Given the description of an element on the screen output the (x, y) to click on. 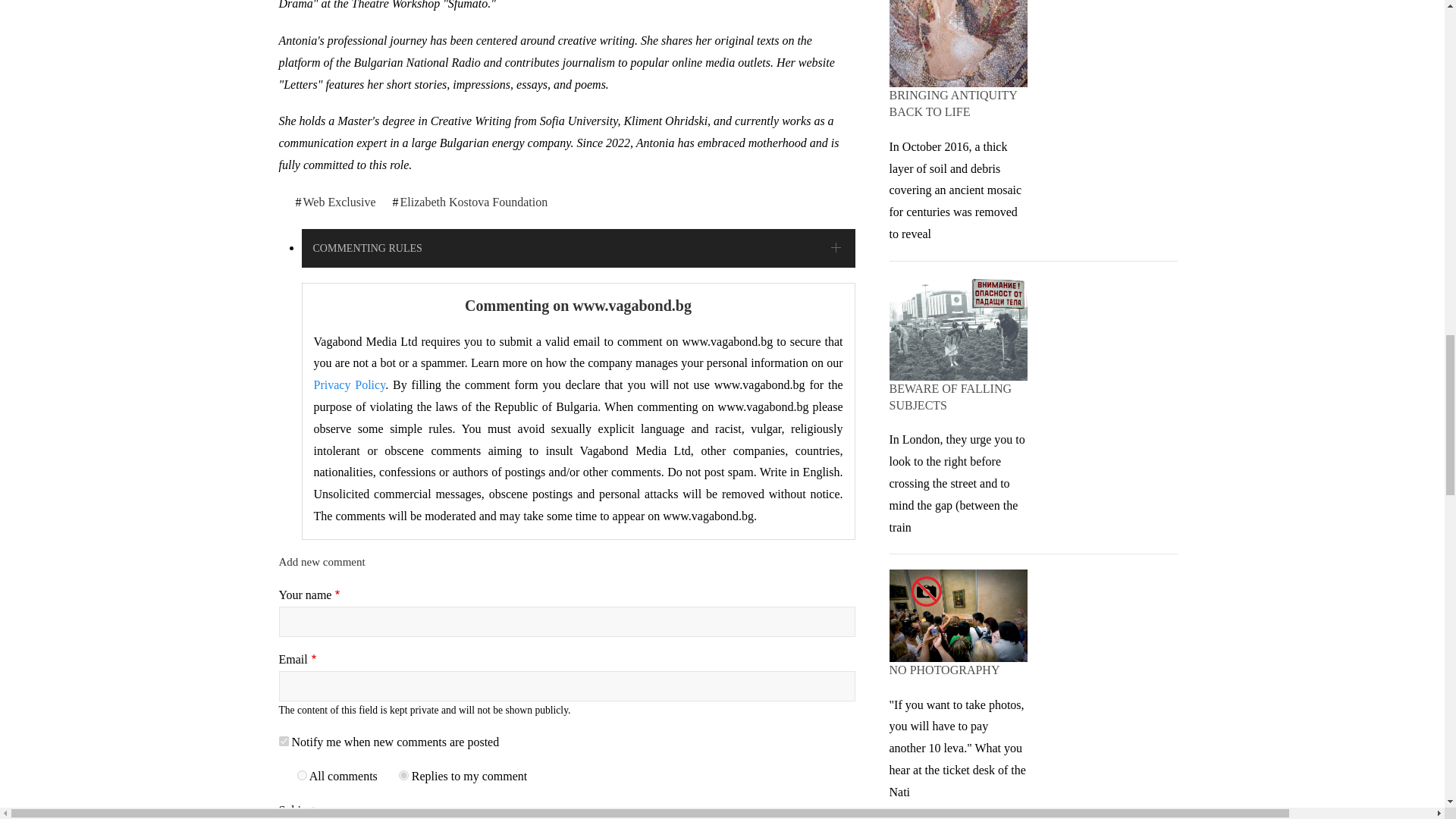
1 (283, 741)
2 (403, 775)
1 (302, 775)
